Given the description of an element on the screen output the (x, y) to click on. 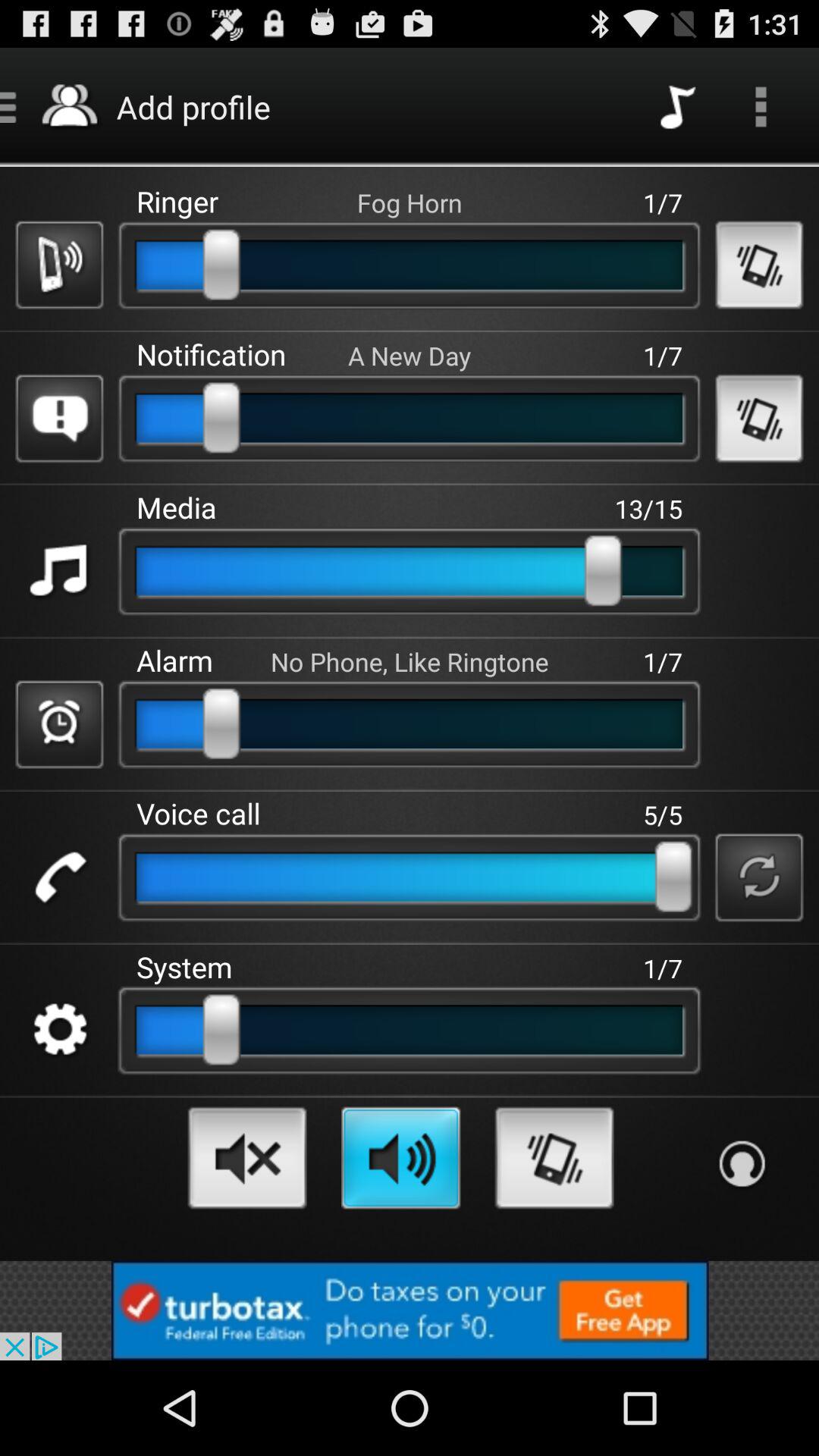
toggle vibrate (758, 264)
